Given the description of an element on the screen output the (x, y) to click on. 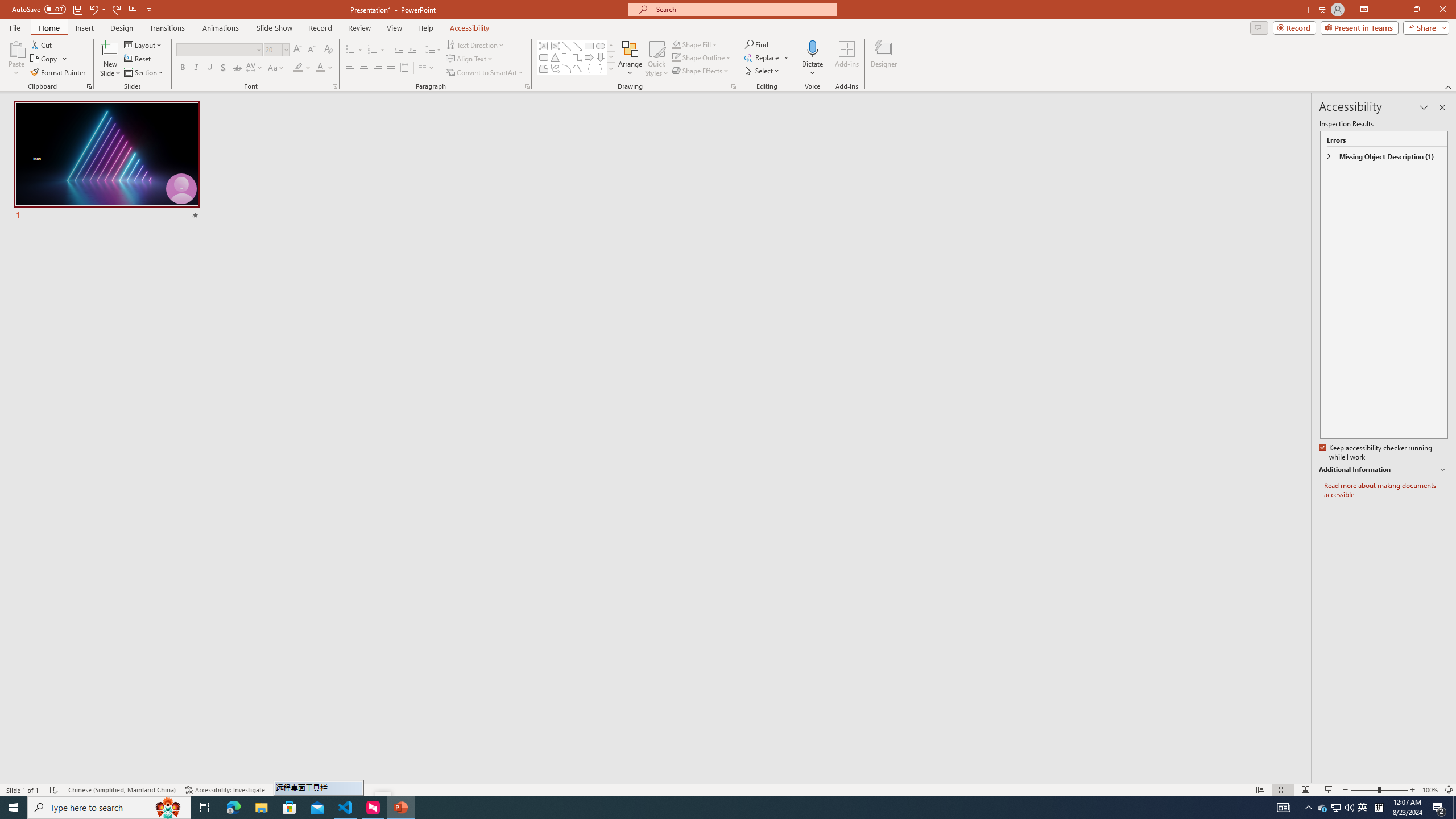
Rectangle: Rounded Corners (543, 57)
Cut (42, 44)
Freeform: Shape (543, 68)
Columns (426, 67)
Strikethrough (237, 67)
Additional Information (1383, 469)
